Given the description of an element on the screen output the (x, y) to click on. 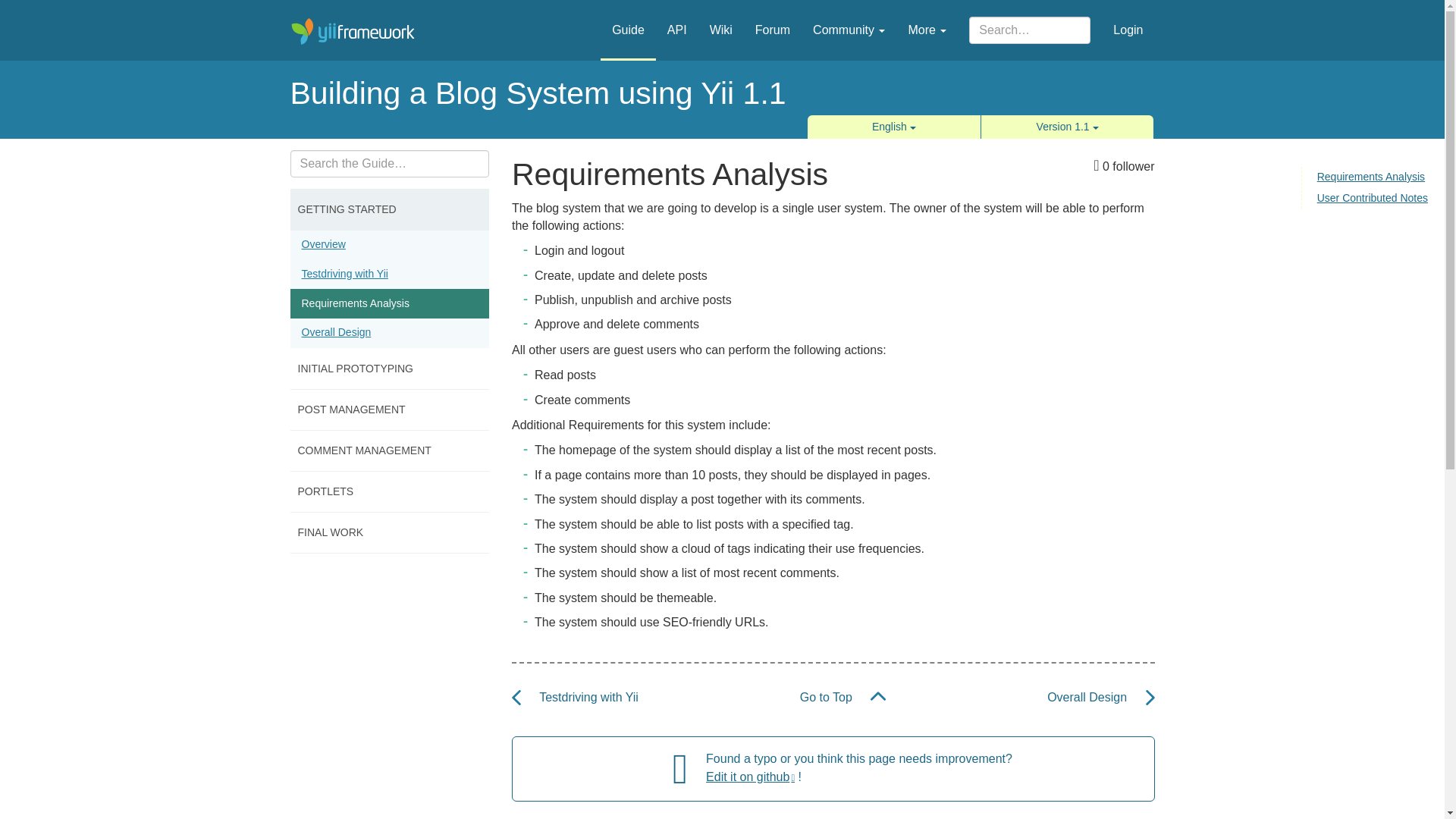
API Documentation (677, 19)
Community (849, 19)
Forum (773, 19)
Wiki (721, 19)
Version 1.1 (1067, 126)
Login (1128, 19)
Community Forum (773, 19)
Community Wiki (721, 19)
English (893, 126)
API (677, 19)
